Given the description of an element on the screen output the (x, y) to click on. 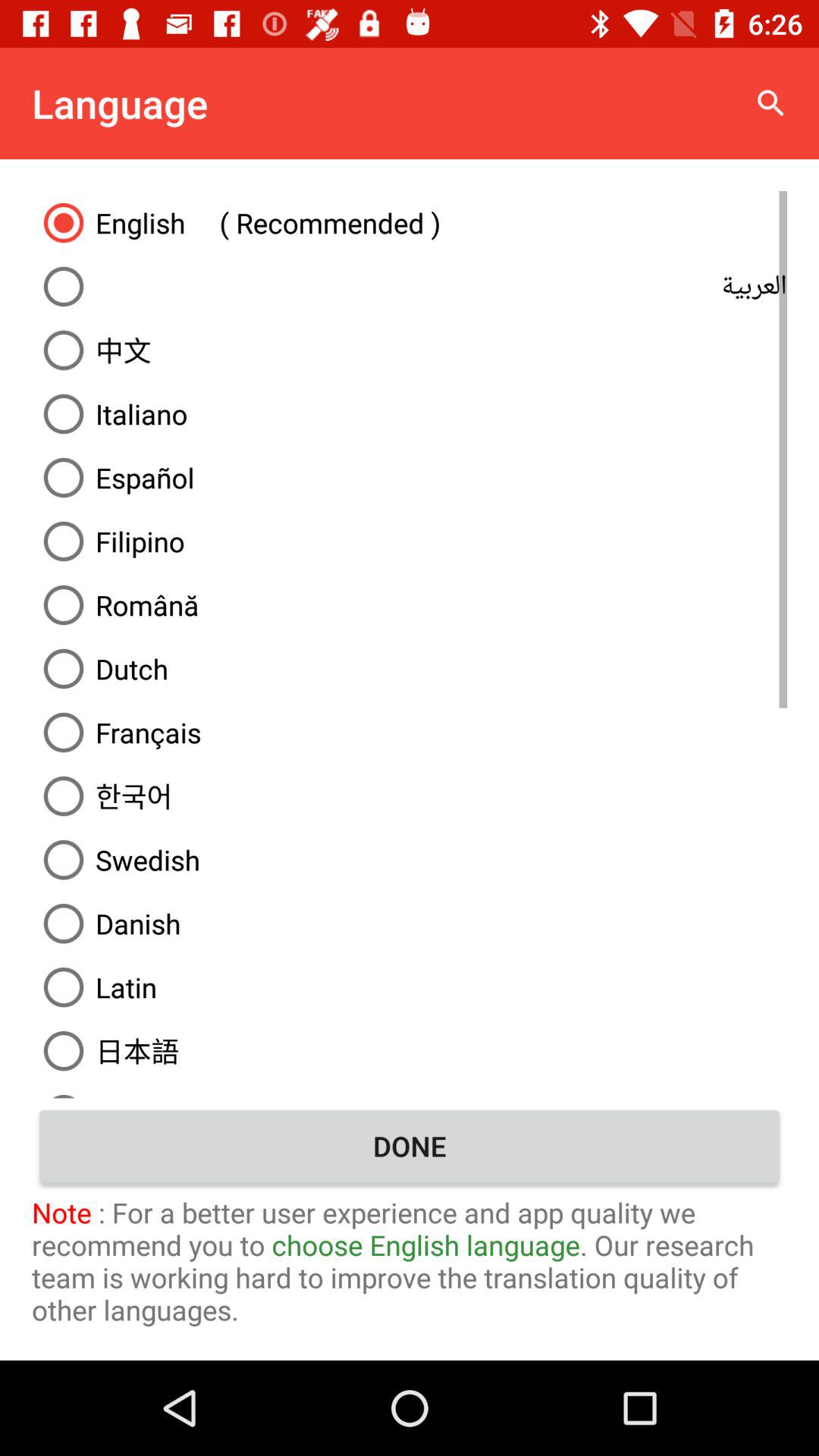
tap the icon above note for a item (409, 1145)
